Given the description of an element on the screen output the (x, y) to click on. 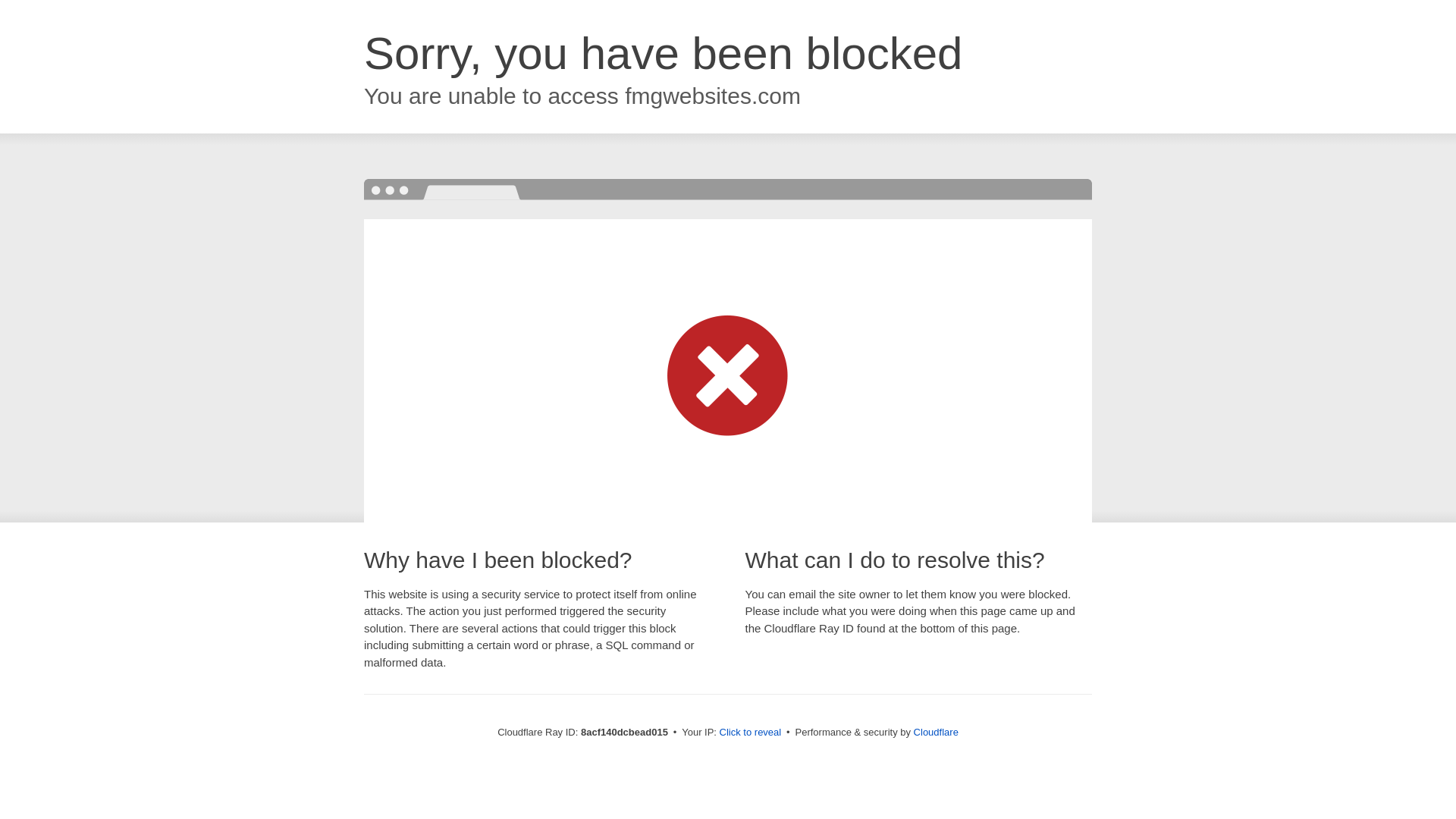
Click to reveal (750, 732)
Cloudflare (936, 731)
